Given the description of an element on the screen output the (x, y) to click on. 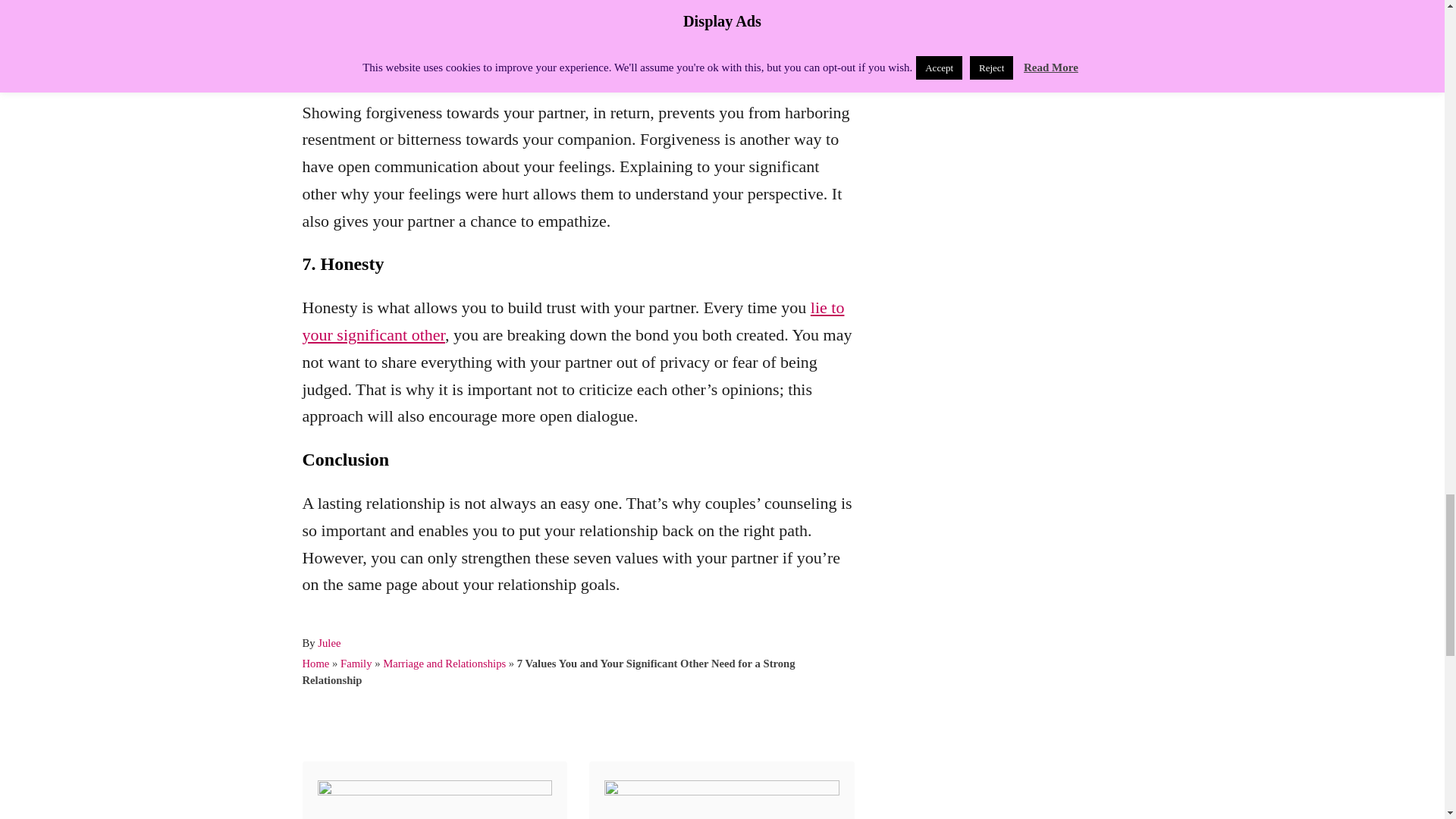
Family (356, 663)
Marriage and Relationships (443, 663)
Home (315, 663)
Julee (328, 643)
lie to your significant other (572, 320)
